Given the description of an element on the screen output the (x, y) to click on. 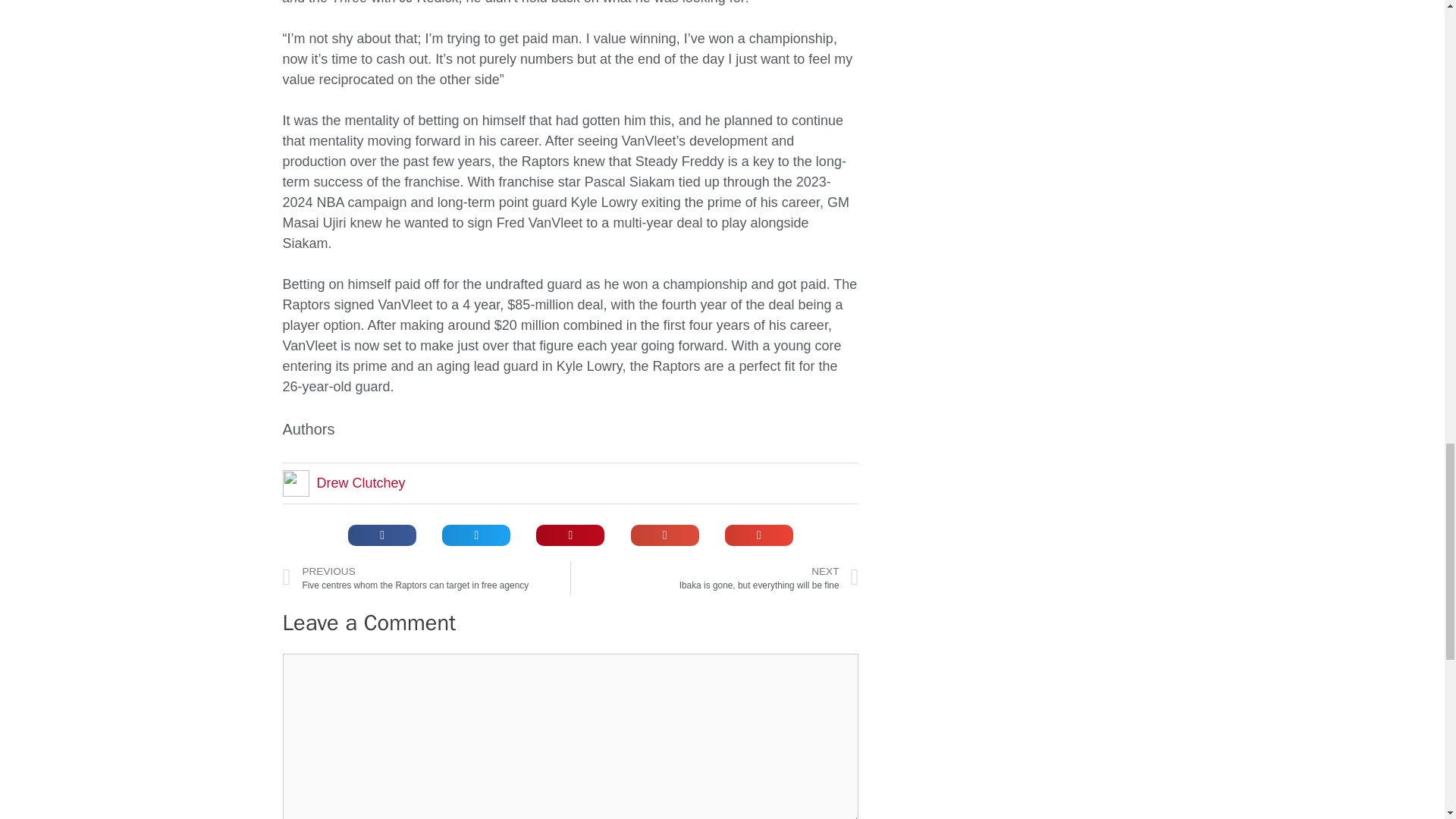
Drew Clutchey (361, 482)
